Given the description of an element on the screen output the (x, y) to click on. 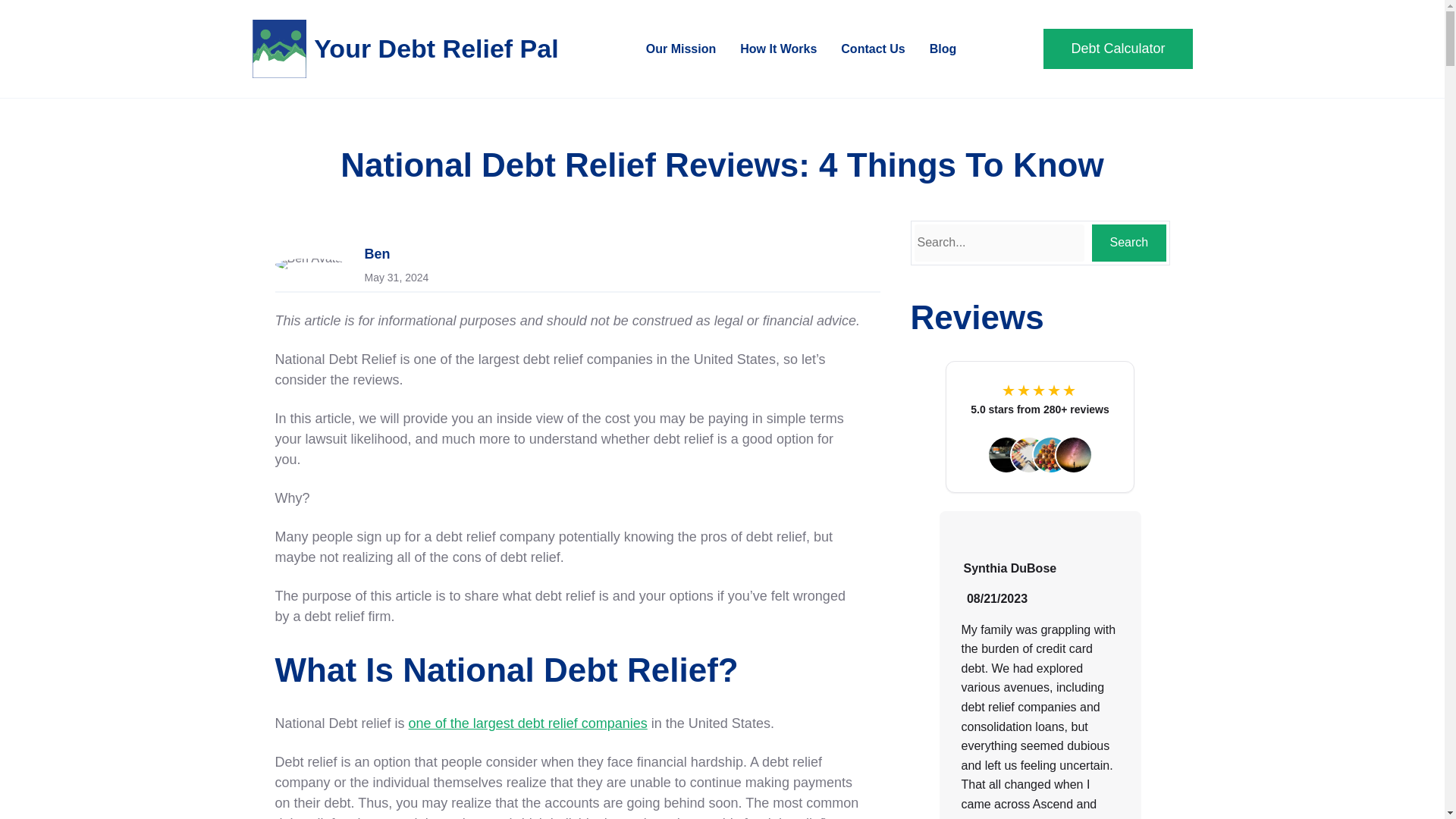
Our Mission (681, 48)
one of the largest debt relief companies (528, 723)
Contact Us (872, 48)
Debt Calculator (1117, 48)
How It Works (777, 48)
Your Debt Relief Pal (435, 48)
Search (1129, 242)
Blog (943, 48)
